Given the description of an element on the screen output the (x, y) to click on. 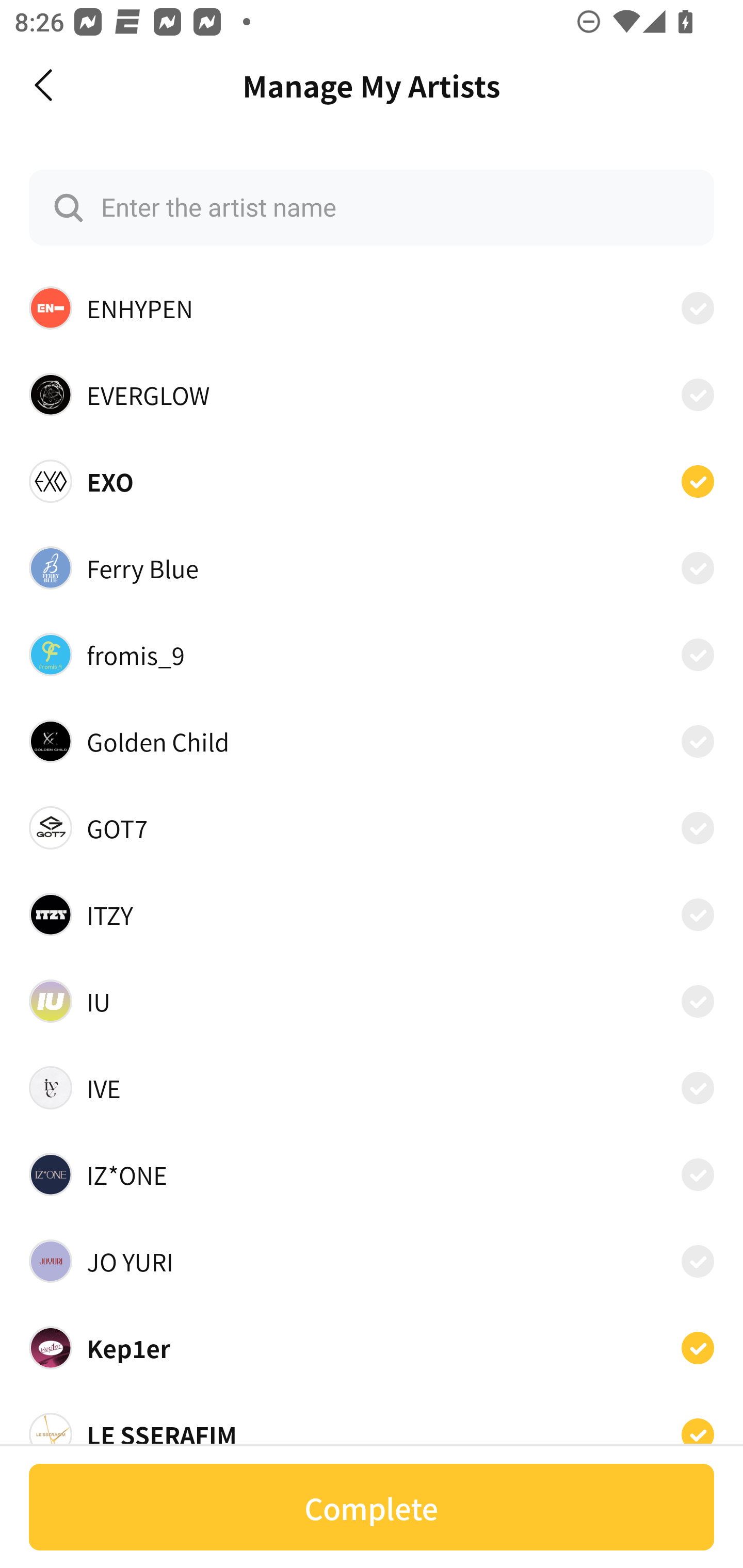
Enter the artist name (371, 207)
ENHYPEN (371, 307)
EVERGLOW (371, 394)
EXO (371, 481)
Ferry Blue (371, 567)
fromis_9 (371, 654)
Golden Child (371, 741)
GOT7 (371, 827)
ITZY (371, 914)
IU (371, 1001)
IVE (371, 1088)
IZ*ONE (371, 1174)
JO YURI (371, 1260)
Kep1er (371, 1347)
LE SSERAFIM (371, 1428)
Complete (371, 1507)
